Given the description of an element on the screen output the (x, y) to click on. 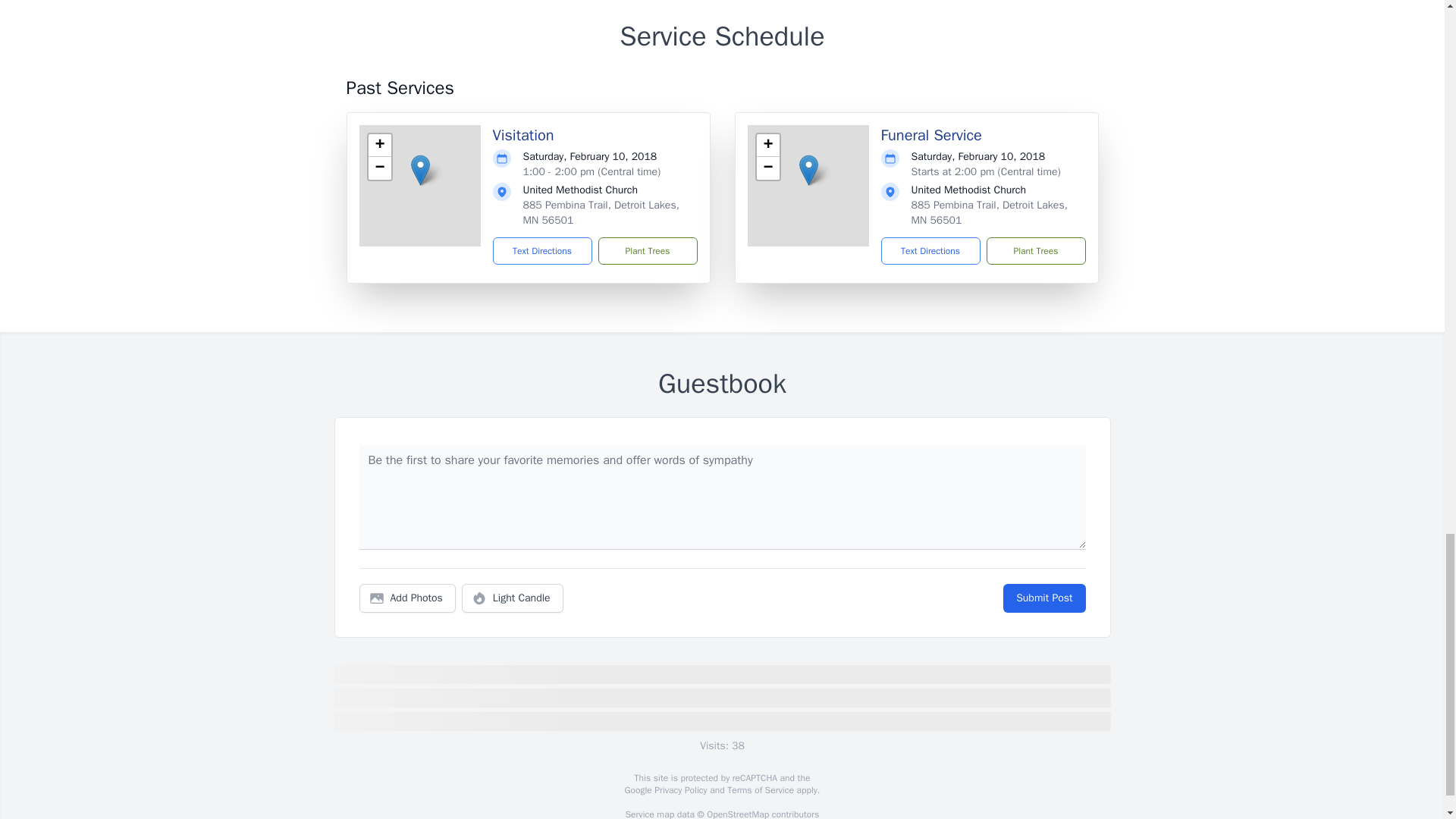
Submit Post (1043, 597)
Zoom in (379, 145)
885 Pembina Trail, Detroit Lakes, MN 56501 (989, 212)
885 Pembina Trail, Detroit Lakes, MN 56501 (600, 212)
Zoom in (767, 145)
Text Directions (929, 250)
Text Directions (542, 250)
Light Candle (512, 597)
Zoom out (379, 168)
OpenStreetMap (737, 813)
Add Photos (407, 597)
Plant Trees (646, 250)
Privacy Policy (679, 789)
Terms of Service (759, 789)
Zoom out (767, 168)
